Given the description of an element on the screen output the (x, y) to click on. 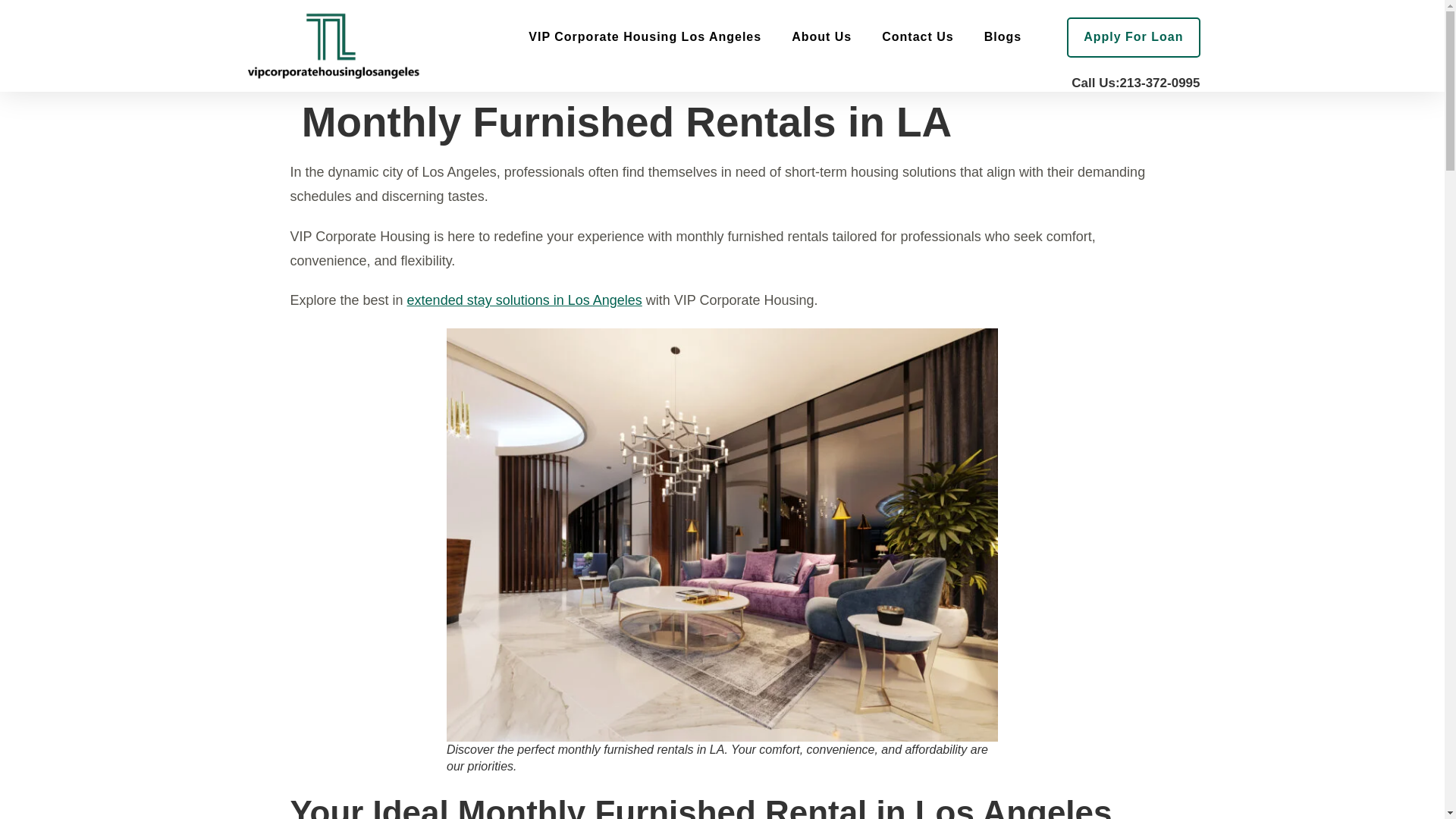
Call Us:213-372-0995 (1135, 83)
Contact Us (917, 37)
Apply For Loan (1133, 37)
Blogs (1002, 37)
VIP Corporate Housing Los Angeles (644, 37)
About Us (821, 37)
extended stay solutions in Los Angeles (524, 299)
